Given the description of an element on the screen output the (x, y) to click on. 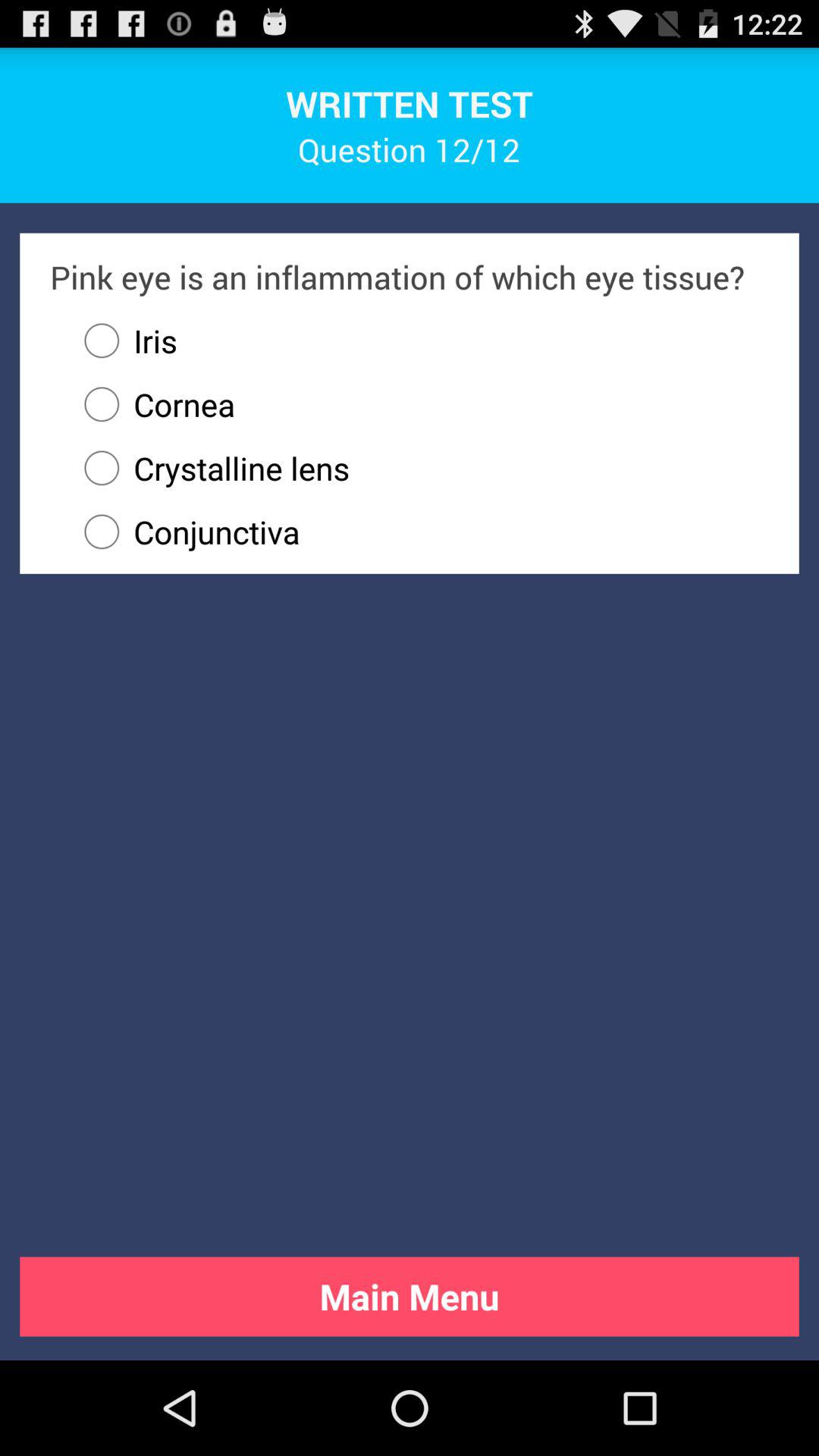
flip to crystalline lens icon (418, 467)
